Given the description of an element on the screen output the (x, y) to click on. 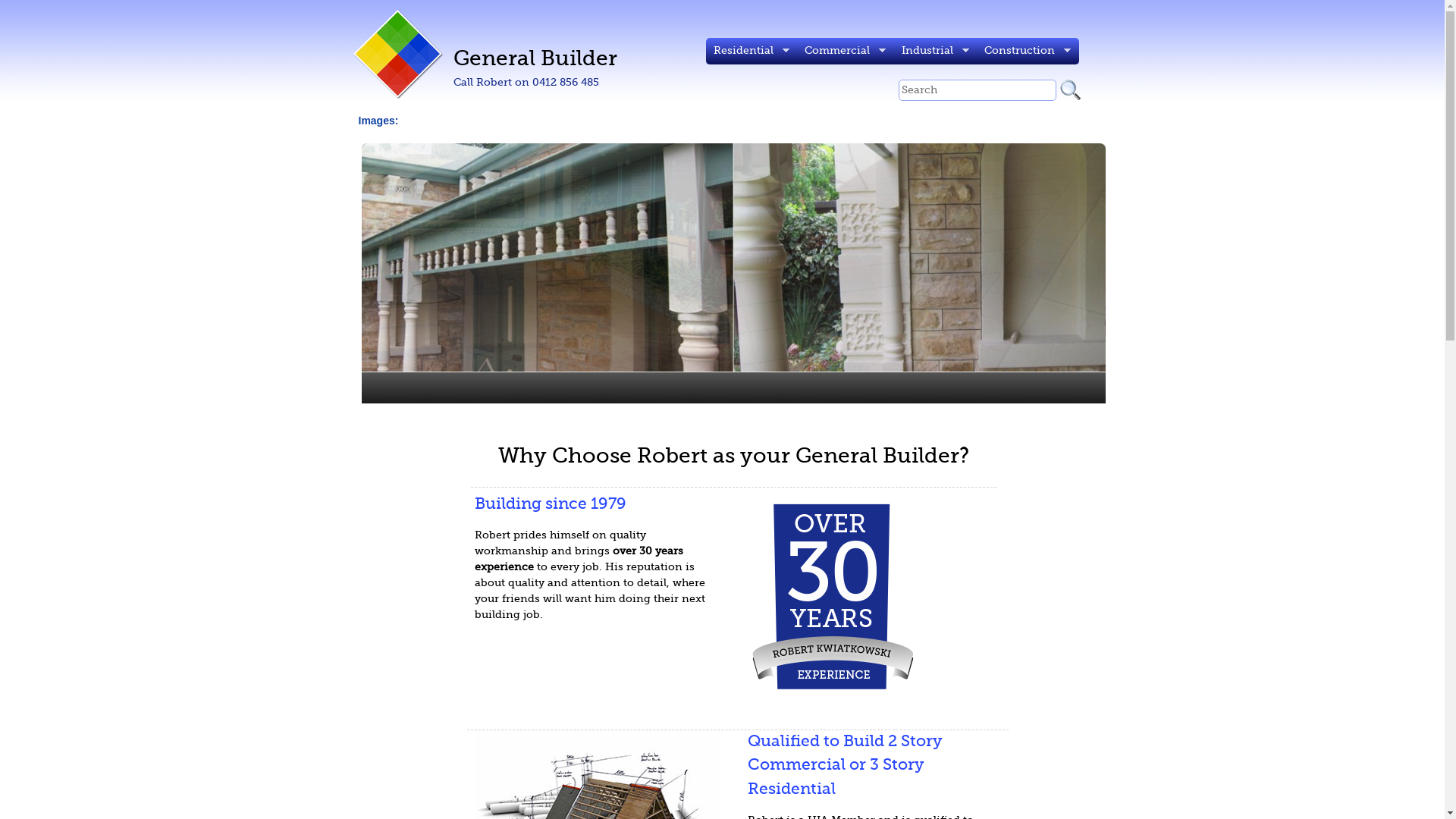
2 Element type: text (713, 422)
Search Element type: text (1077, 89)
3 Element type: text (729, 422)
Enter the terms you wish to search for. Element type: hover (976, 89)
5 Element type: text (761, 422)
1 Element type: text (697, 422)
Skip to main content Element type: text (658, 0)
Why Choose Robert as your General Builder? Element type: text (733, 456)
4 Element type: text (745, 422)
General Builder Element type: text (535, 59)
Victorian style home front restoration. Element type: hover (732, 257)
